Given the description of an element on the screen output the (x, y) to click on. 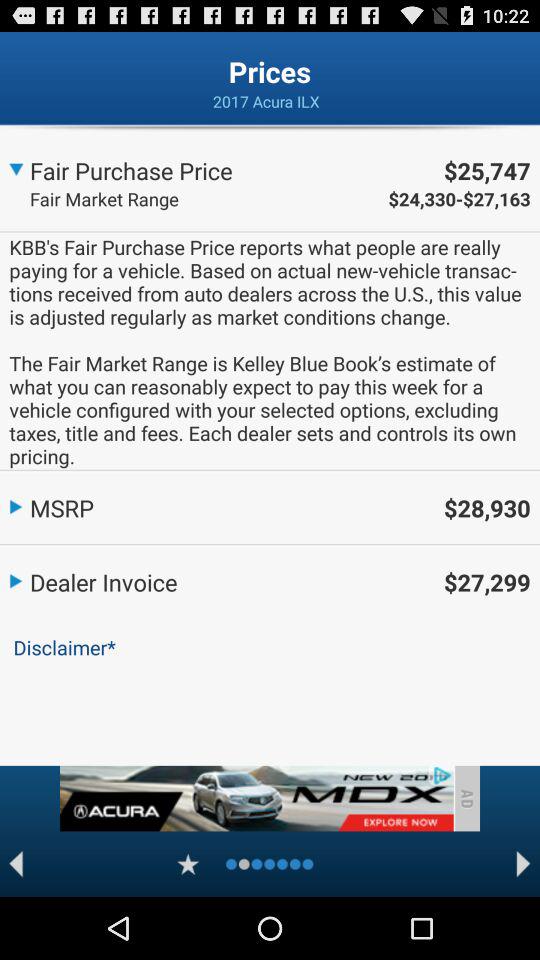
previous page (16, 864)
